Given the description of an element on the screen output the (x, y) to click on. 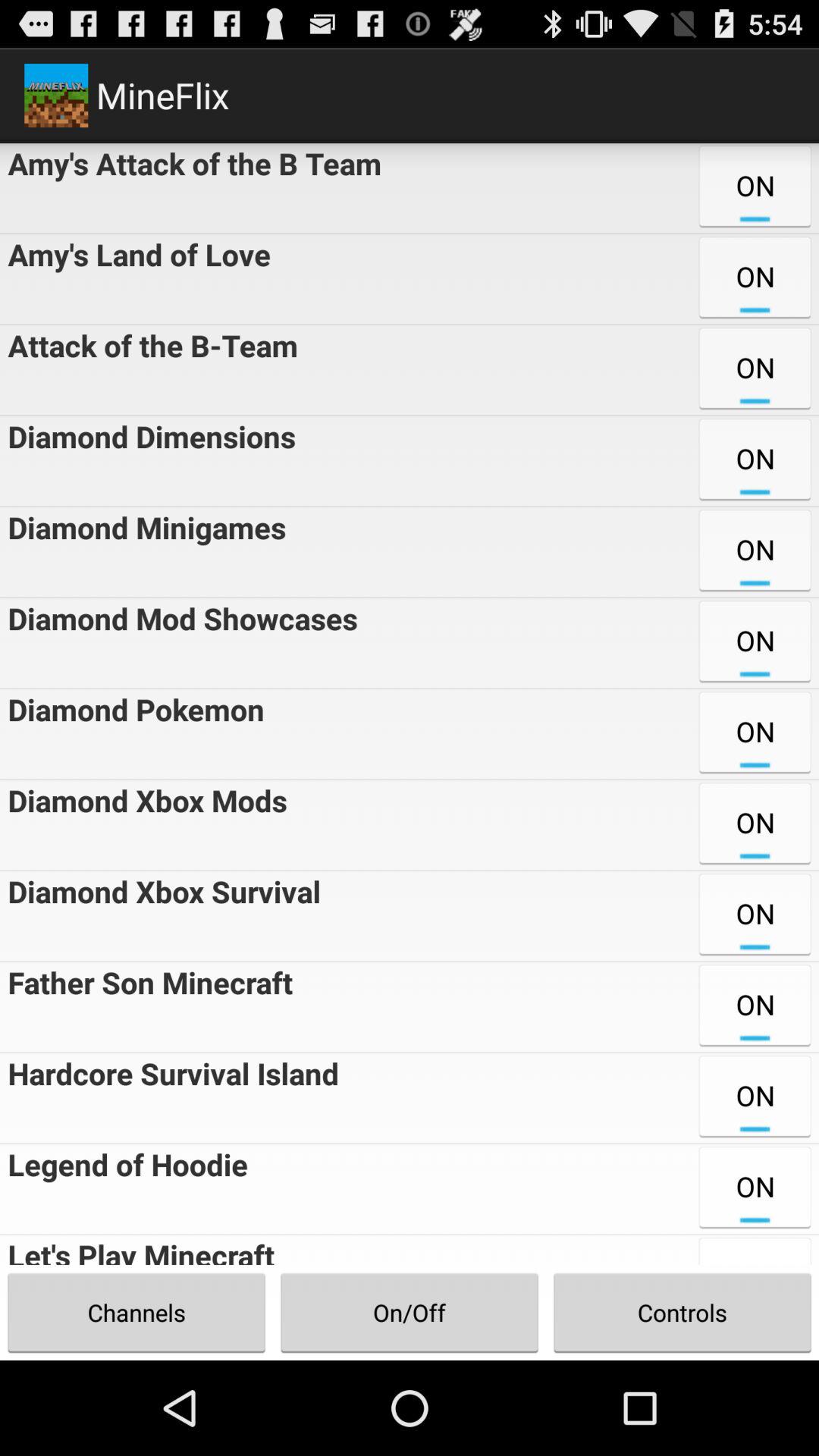
choose the on/off item (409, 1312)
